Given the description of an element on the screen output the (x, y) to click on. 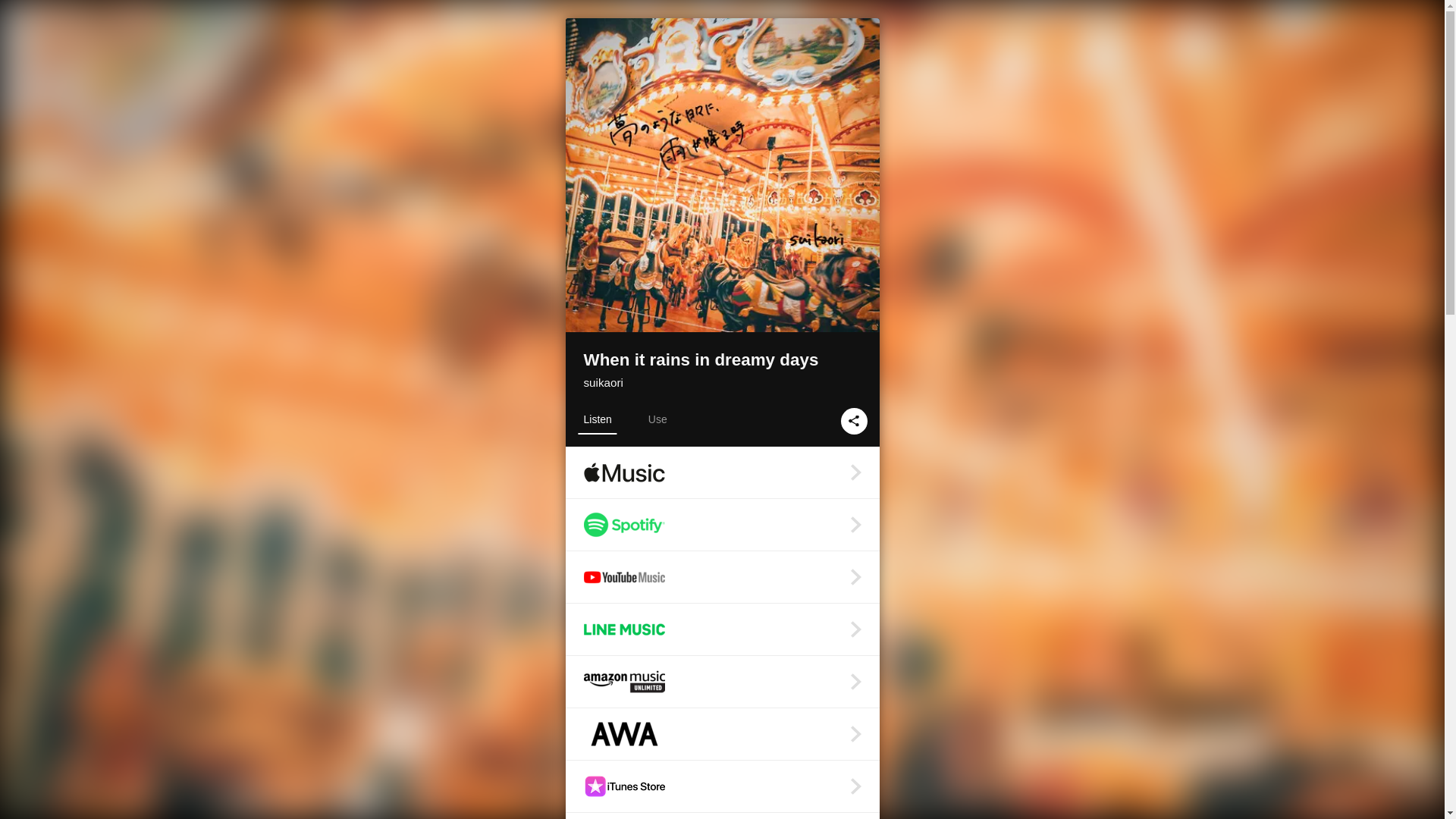
Available on LINE MUSIC (722, 629)
suikaori (603, 382)
Available on Spotify (722, 524)
Available on Amazon Music Unlimited (722, 681)
When it rains in dreamy days (722, 360)
Available on AWA (722, 734)
suikaori (603, 382)
Available on Apple Music (722, 471)
Available on Amazon Music (722, 816)
Available on YouTube Music (722, 576)
Available on iTunes (722, 786)
